Given the description of an element on the screen output the (x, y) to click on. 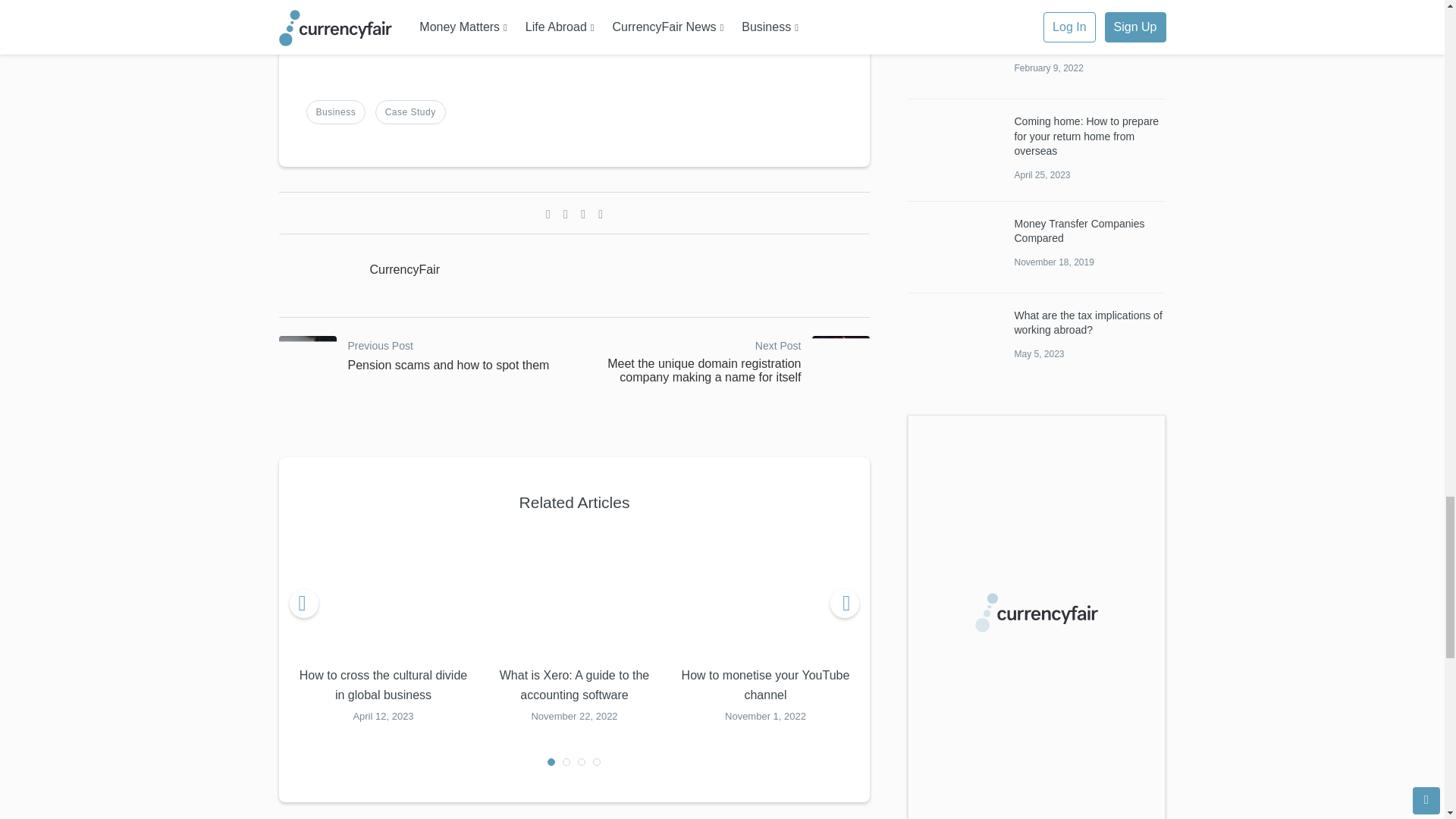
What is Xero: A guide to the accounting software (574, 592)
How to cross the cultural divide in global business (383, 592)
Posts by CurrencyFair (404, 269)
How to monetise your YouTube channel (765, 592)
